Given the description of an element on the screen output the (x, y) to click on. 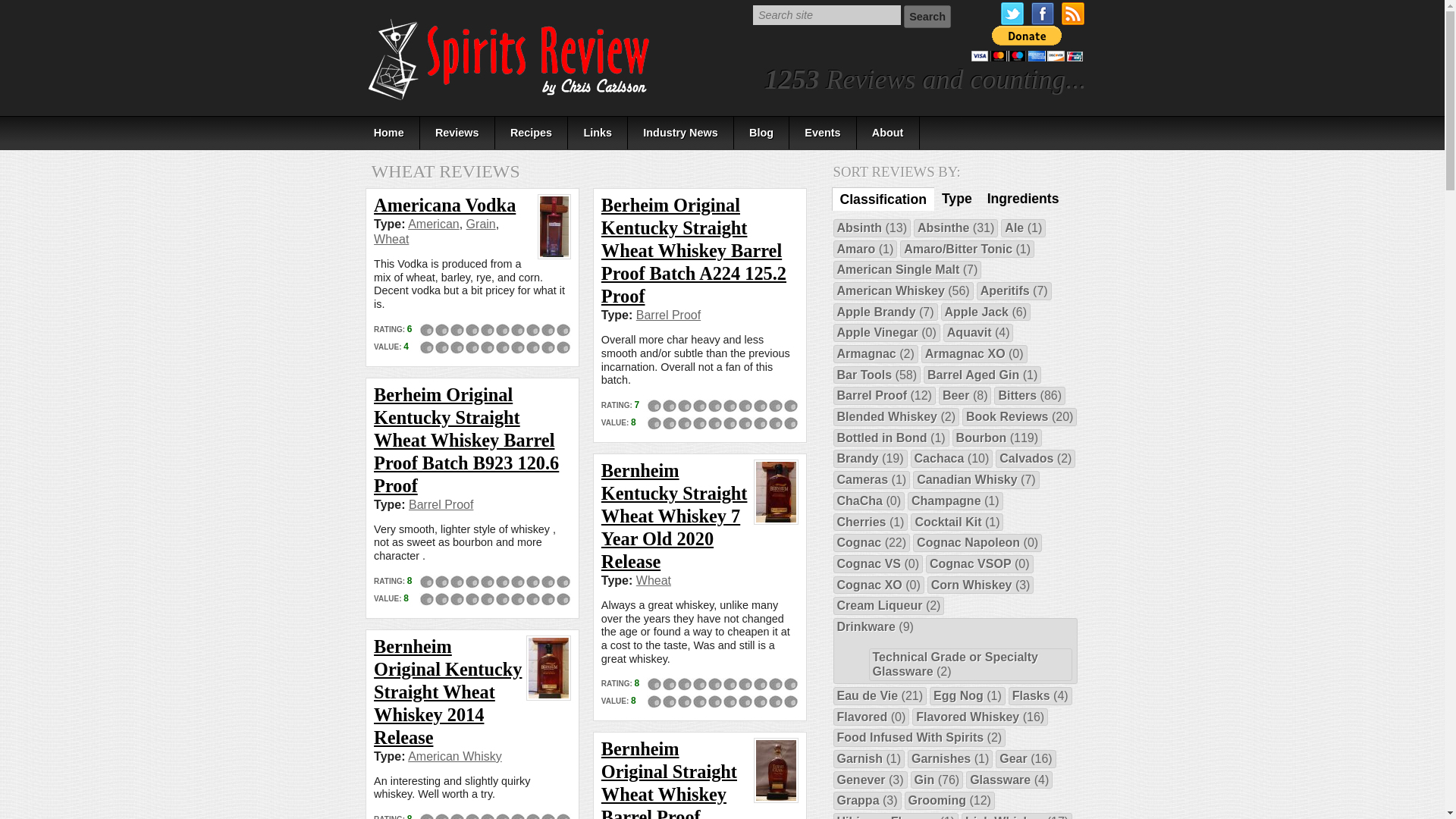
Spirits Review (509, 59)
American Whisky (454, 756)
Barrel Proof (668, 314)
Follow us on Twitter (1012, 13)
Home (388, 133)
Subscribe via RSS (1071, 13)
Industry News (680, 133)
Events (823, 133)
About (888, 133)
Recipes (532, 133)
American (433, 223)
Wheat (653, 580)
Blog (761, 133)
